Given the description of an element on the screen output the (x, y) to click on. 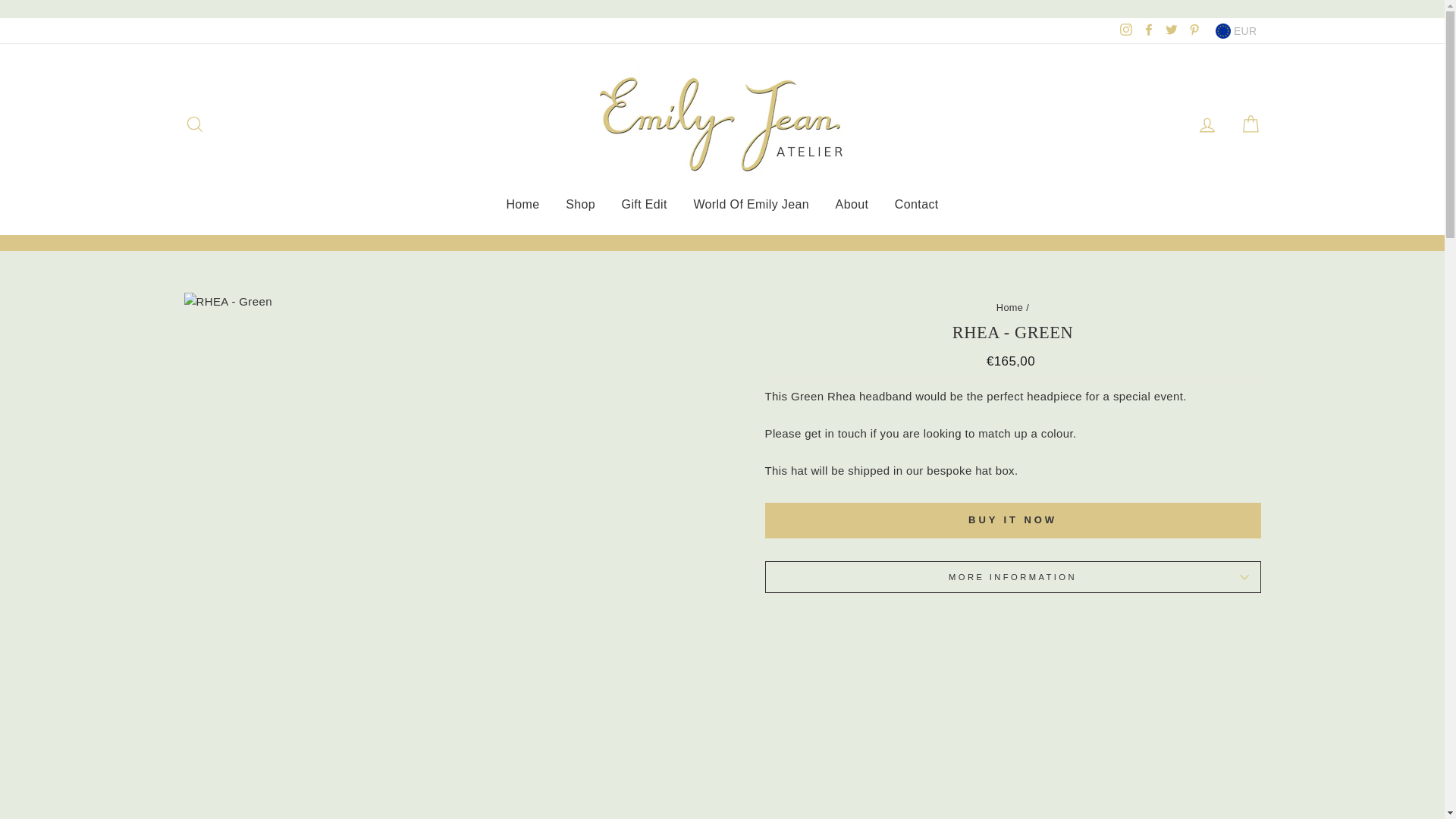
Facebook (1148, 30)
Emily Jean Atelier on Instagram (1125, 30)
EUR (1236, 30)
Search (194, 123)
Back to the frontpage (1009, 307)
Twitter (1170, 30)
Emily Jean Atelier on Pinterest (1194, 30)
Instagram (1125, 30)
Pinterest (1194, 30)
Emily Jean Atelier on Facebook (1148, 30)
Emily Jean Atelier on Twitter (1170, 30)
